Given the description of an element on the screen output the (x, y) to click on. 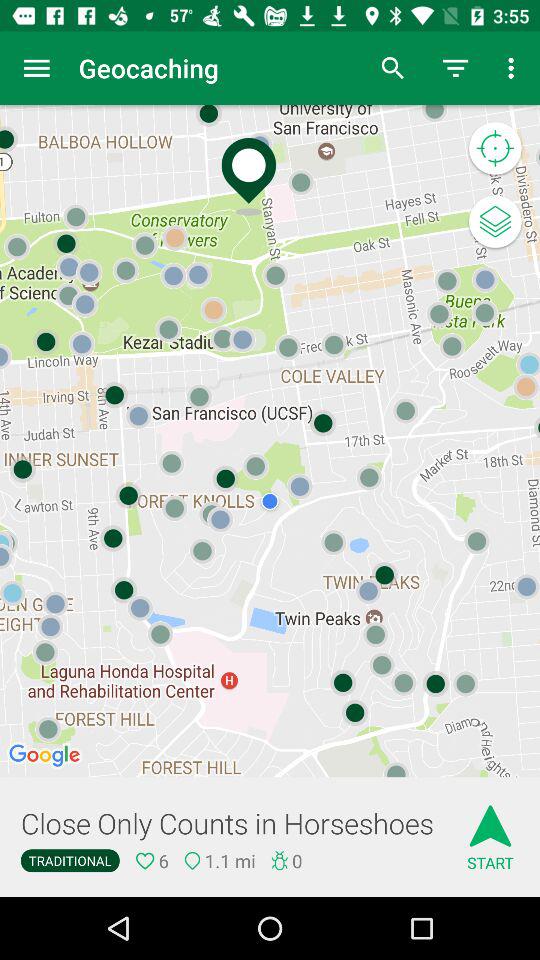
select the item to the left of the geocaching app (36, 68)
